Given the description of an element on the screen output the (x, y) to click on. 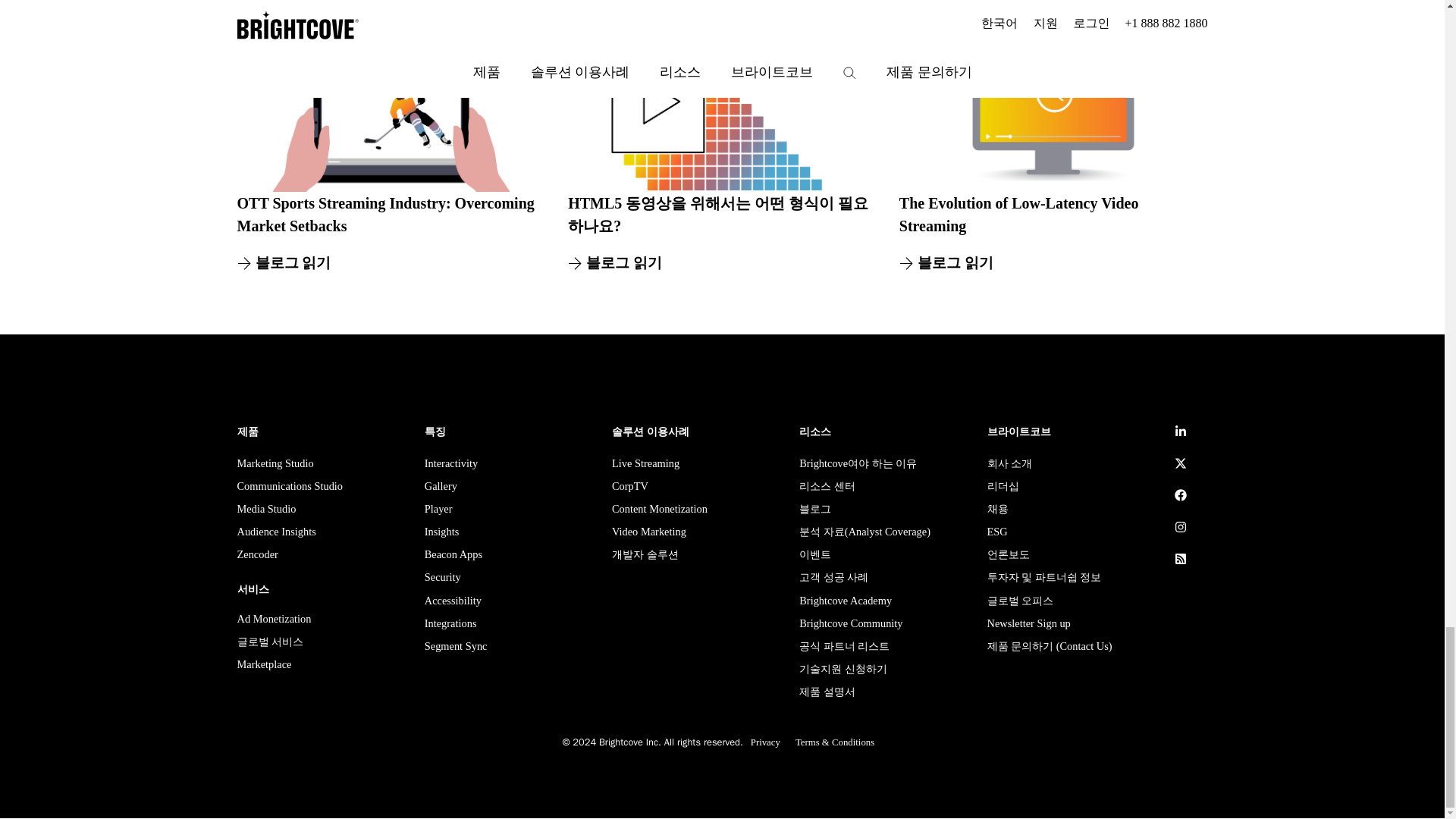
Marketing Studio (274, 465)
Zencoder (256, 557)
Media Studio (265, 510)
Audience Insights (275, 533)
Communications Studio (288, 487)
Ad Monetization (273, 620)
